Given the description of an element on the screen output the (x, y) to click on. 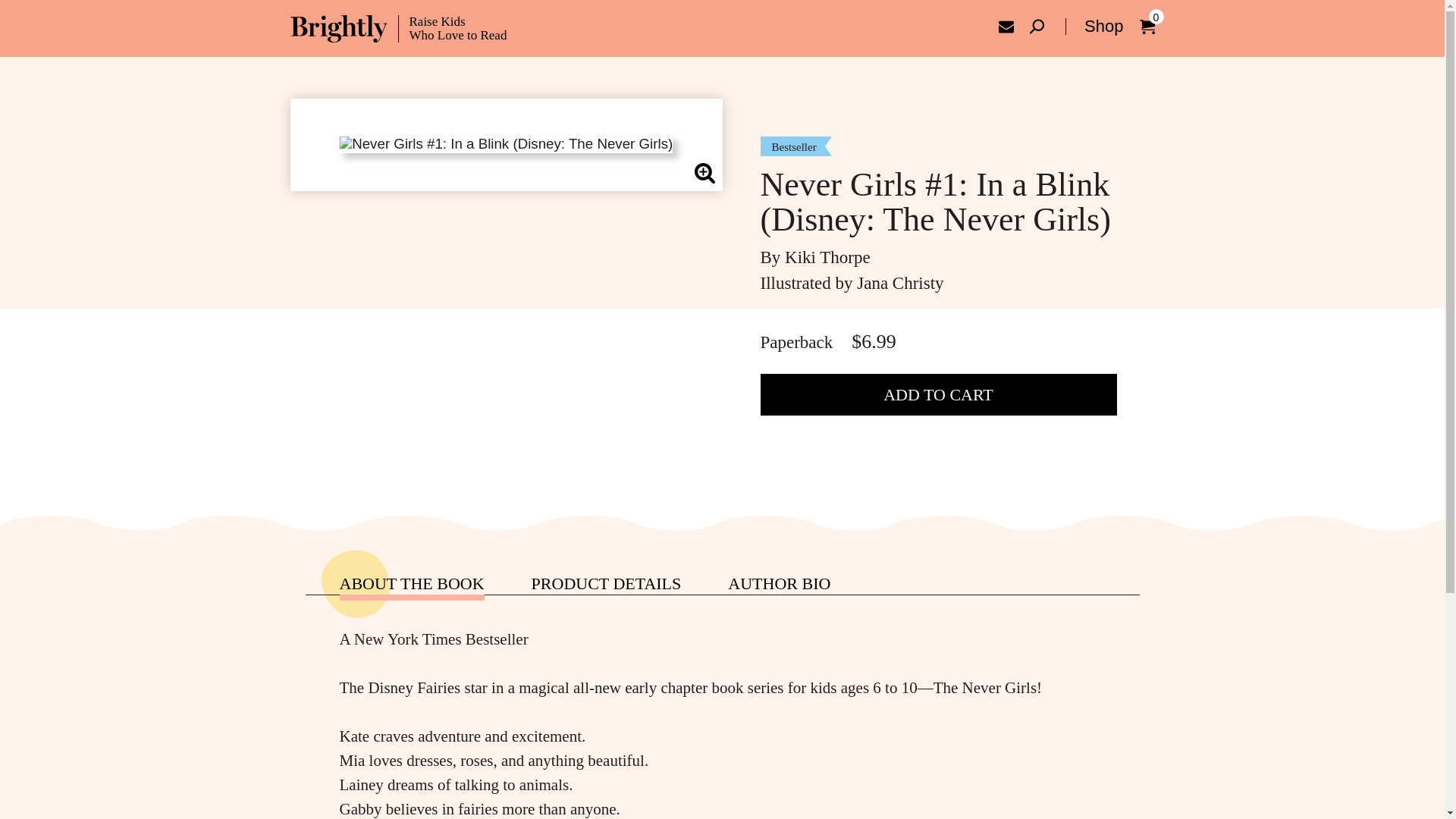
Brightly (397, 28)
cart (1146, 25)
Shop (1093, 26)
uniE603 (1036, 25)
envelope (1005, 25)
